Given the description of an element on the screen output the (x, y) to click on. 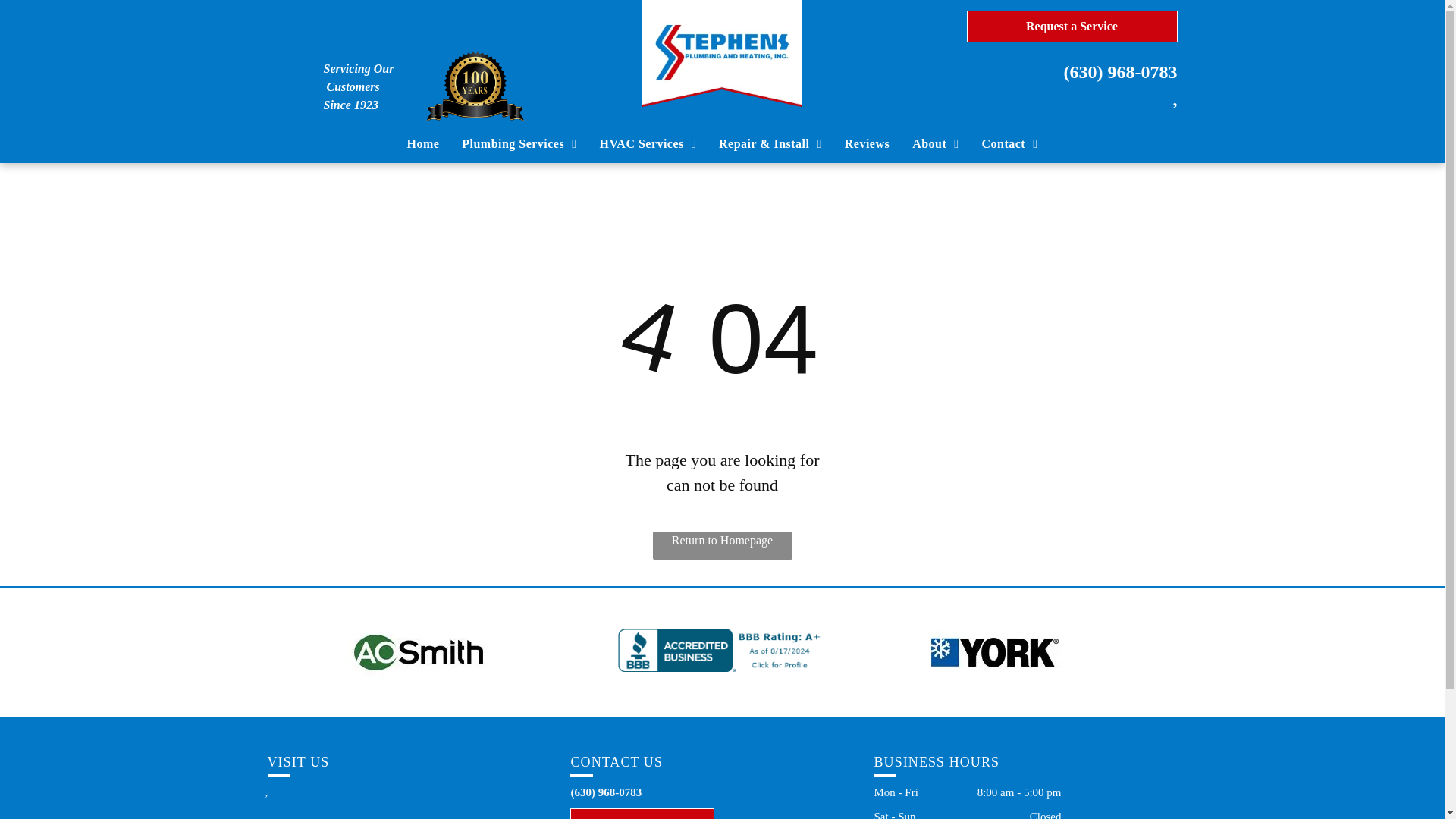
Send a Message (642, 813)
Plumbing Services (518, 144)
Return to Homepage (722, 545)
Home (423, 144)
Request a Service (1071, 26)
Contact (1010, 144)
HVAC Services (647, 144)
Reviews (866, 144)
About (935, 144)
